Given the description of an element on the screen output the (x, y) to click on. 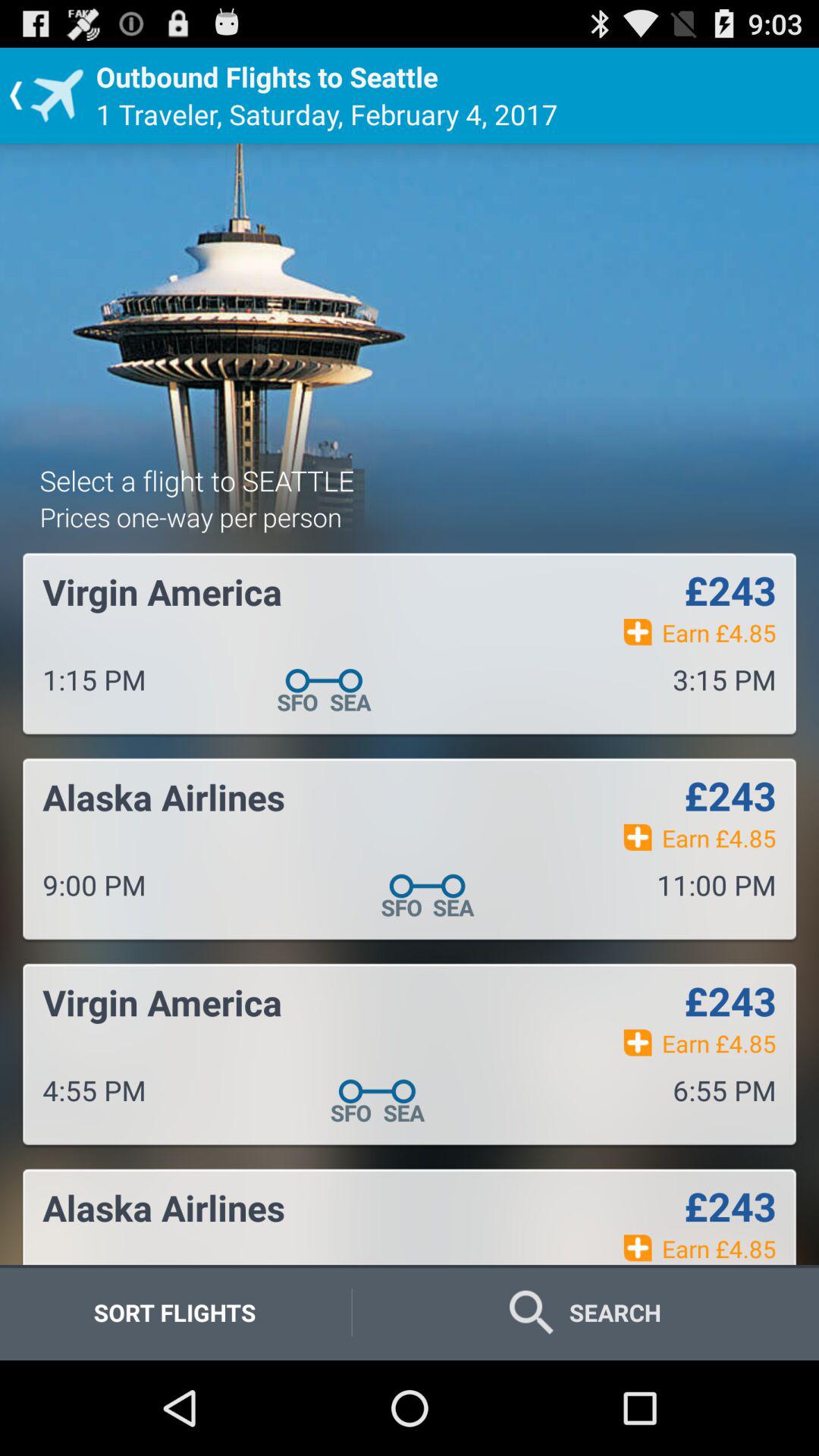
choose prices one way item (190, 516)
